Given the description of an element on the screen output the (x, y) to click on. 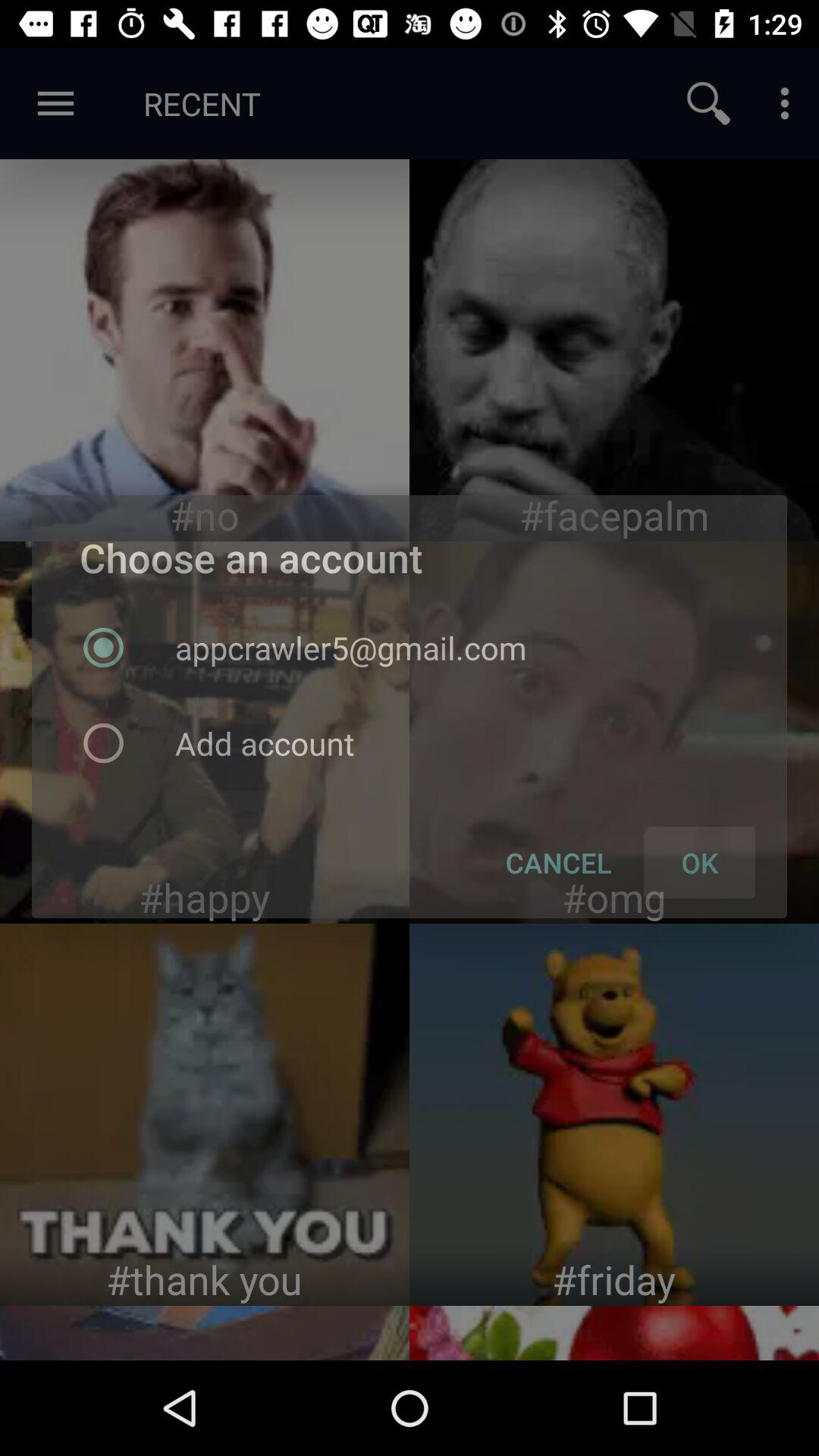
post the friday meme to your social media account (614, 1114)
